Given the description of an element on the screen output the (x, y) to click on. 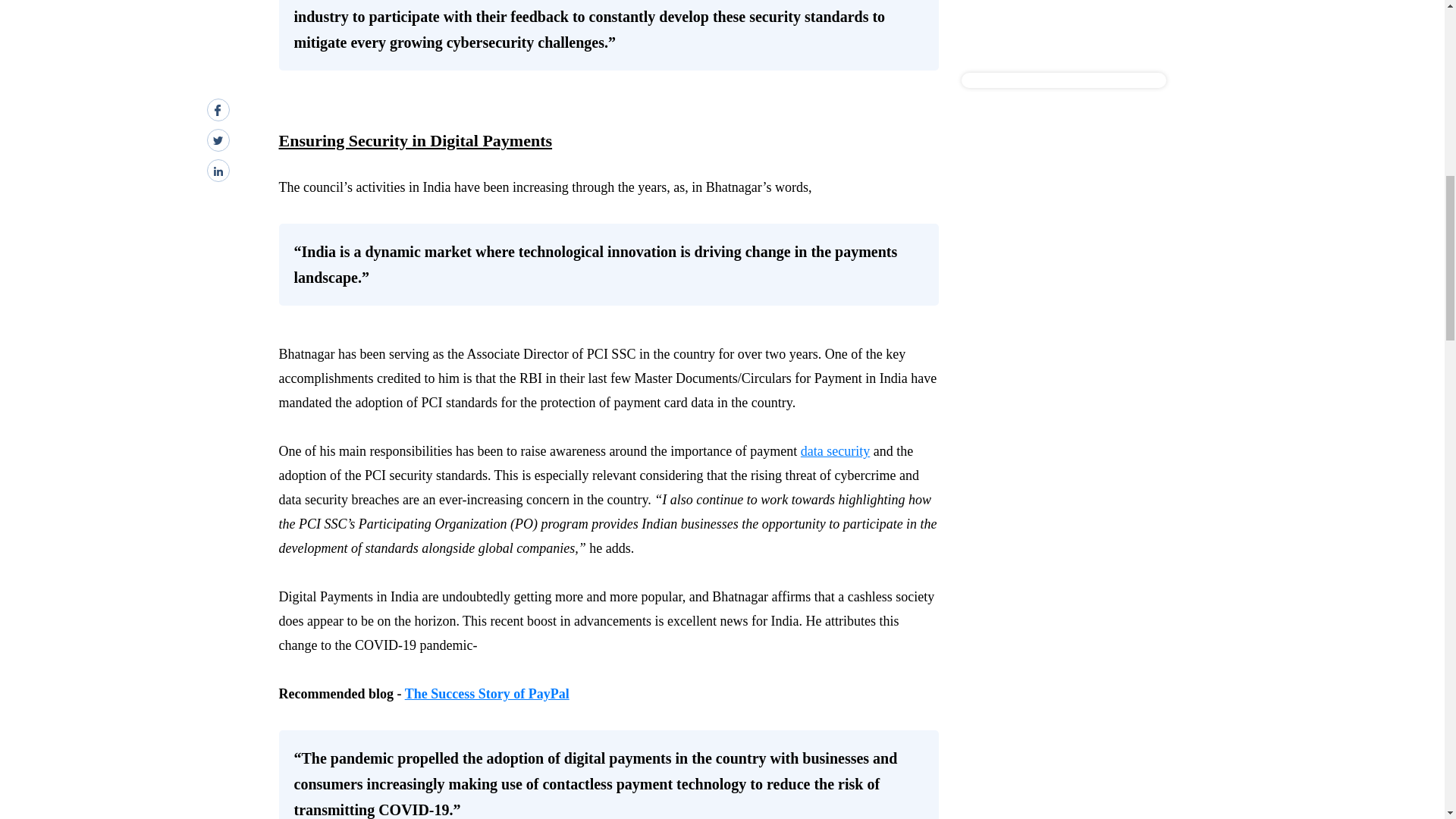
READ MORE (1002, 40)
data security (834, 450)
The Success Story of PayPal (486, 693)
